Given the description of an element on the screen output the (x, y) to click on. 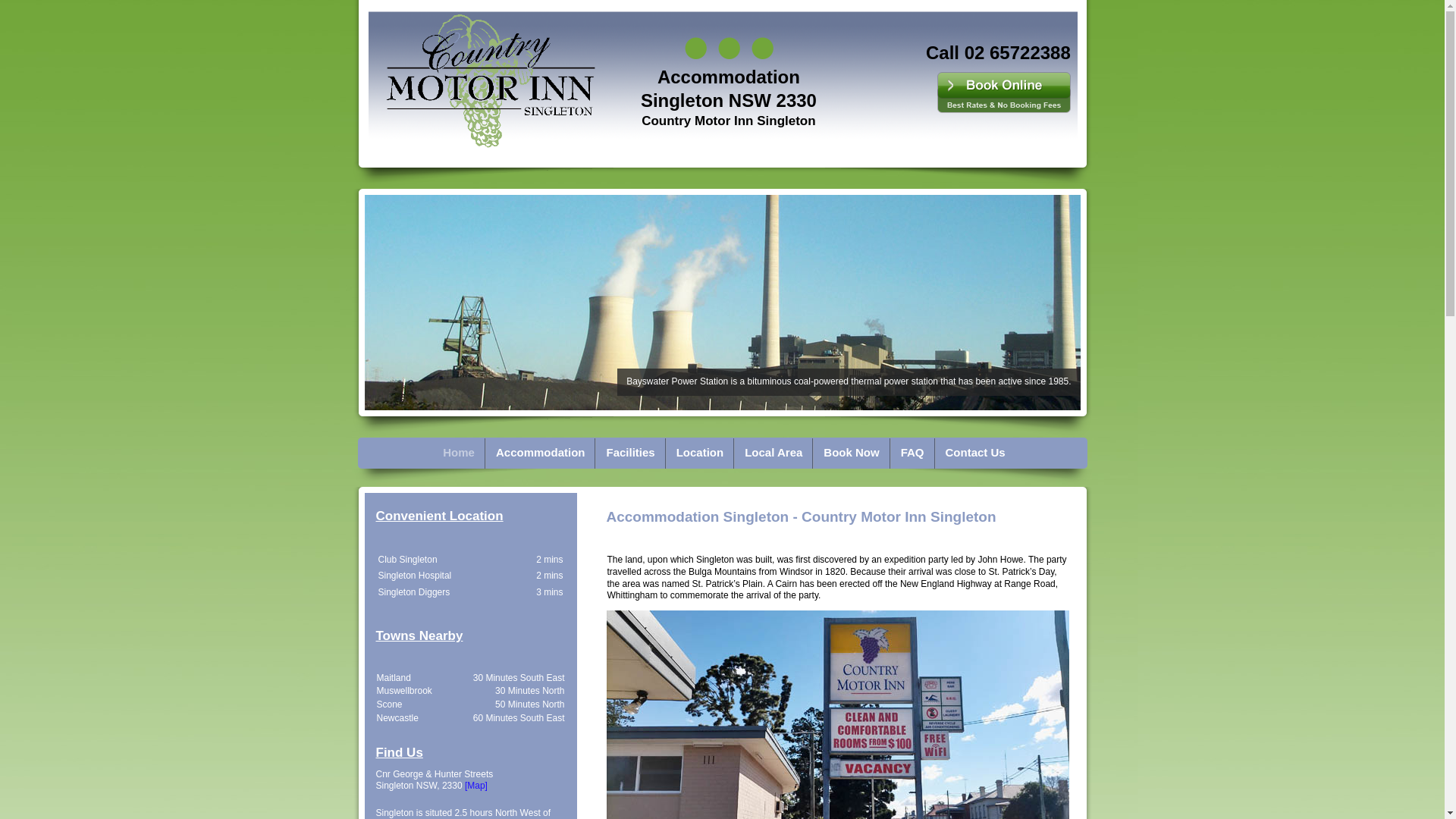
Home Element type: text (458, 451)
[Map] Element type: text (475, 785)
Accommodation Booking Options Element type: hover (594, 453)
Location Element type: text (700, 451)
Accommodation Booking Options Element type: hover (889, 453)
FAQ Element type: text (912, 451)
Accommodation Booking Options Element type: hover (733, 453)
Book Now Element type: text (850, 451)
Accommodation Booking Options Element type: hover (934, 453)
Accommodation Booking Options Element type: hover (812, 453)
Accommodation Menu Element type: hover (722, 477)
Accommodation Booking Options Element type: hover (665, 453)
Book Accommodation at Country Motor Inn Singleton Online Element type: hover (1003, 92)
Accommodation Element type: text (540, 451)
Facilities Element type: text (629, 451)
Local Area Element type: text (773, 451)
Accommodation Booking Options Element type: hover (484, 453)
Contact Us Element type: text (975, 451)
